Given the description of an element on the screen output the (x, y) to click on. 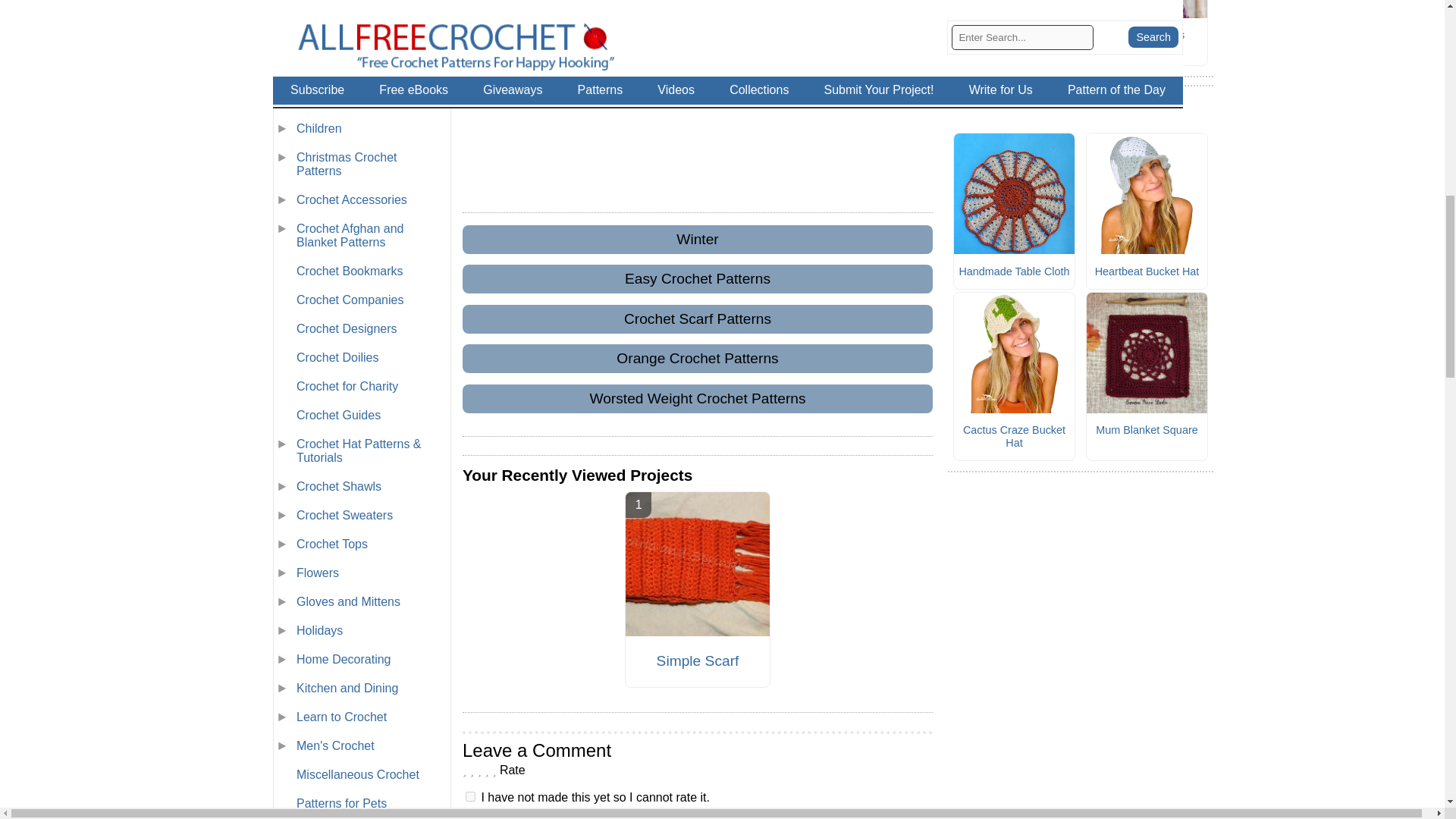
Insticator Content Engagement Unit (698, 90)
1 (470, 796)
